Given the description of an element on the screen output the (x, y) to click on. 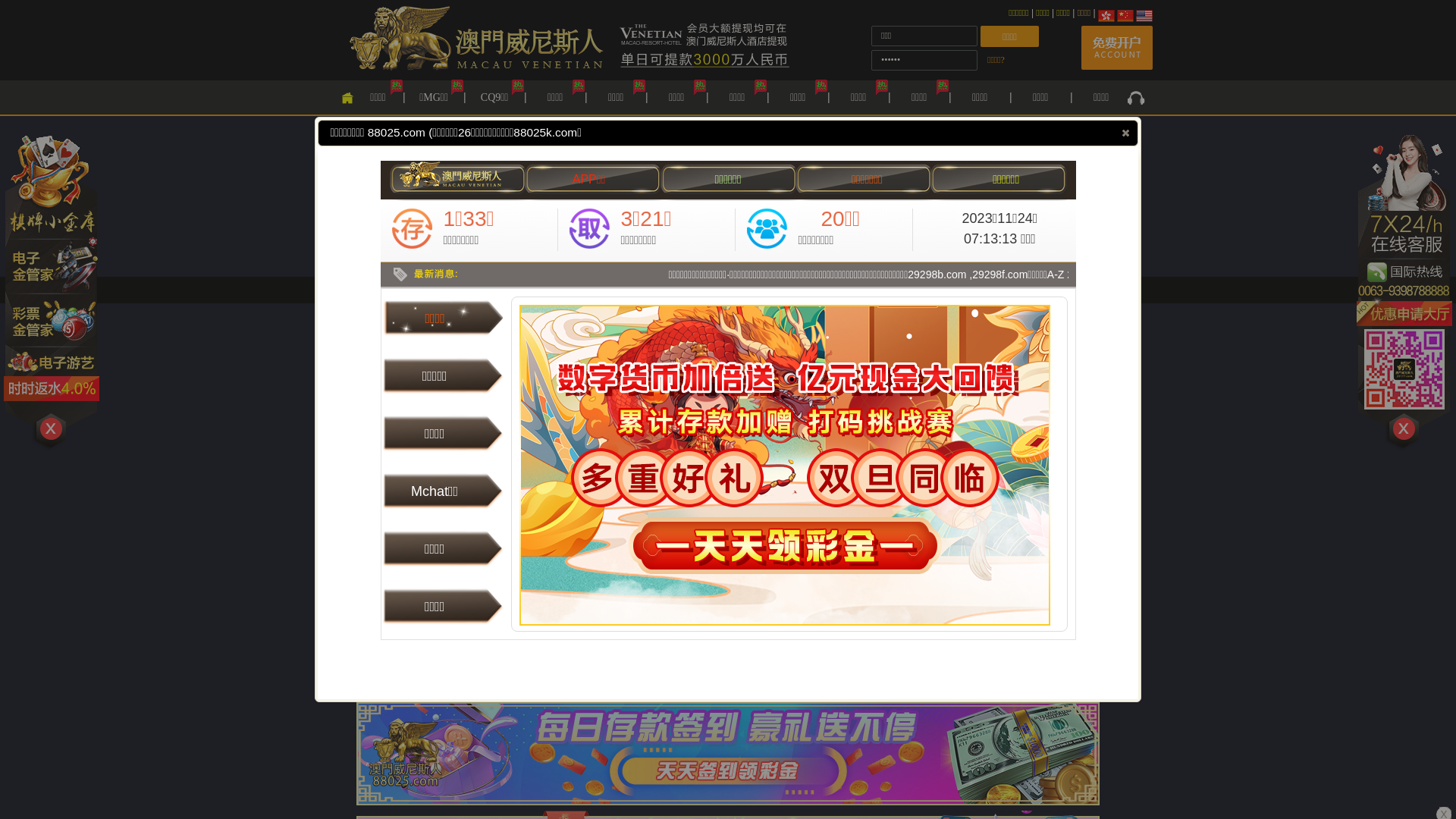
close Element type: text (1125, 132)
X Element type: text (1443, 713)
